Given the description of an element on the screen output the (x, y) to click on. 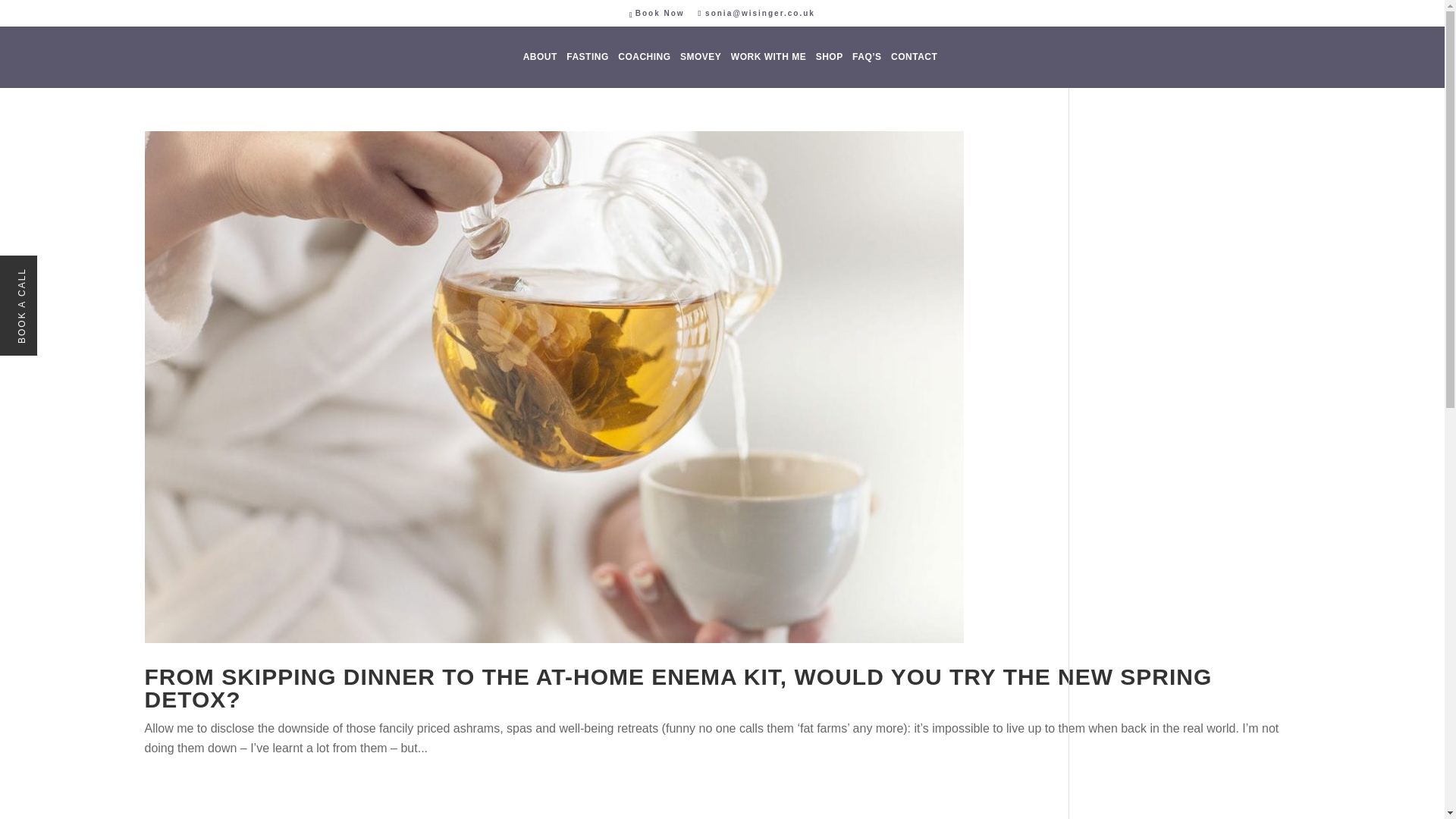
COACHING (643, 69)
Book Now (659, 13)
WORK WITH ME (768, 69)
SMOVEY (699, 69)
CONTACT (914, 69)
ABOUT (539, 69)
FASTING (587, 69)
BOOK A CALL (54, 272)
